Given the description of an element on the screen output the (x, y) to click on. 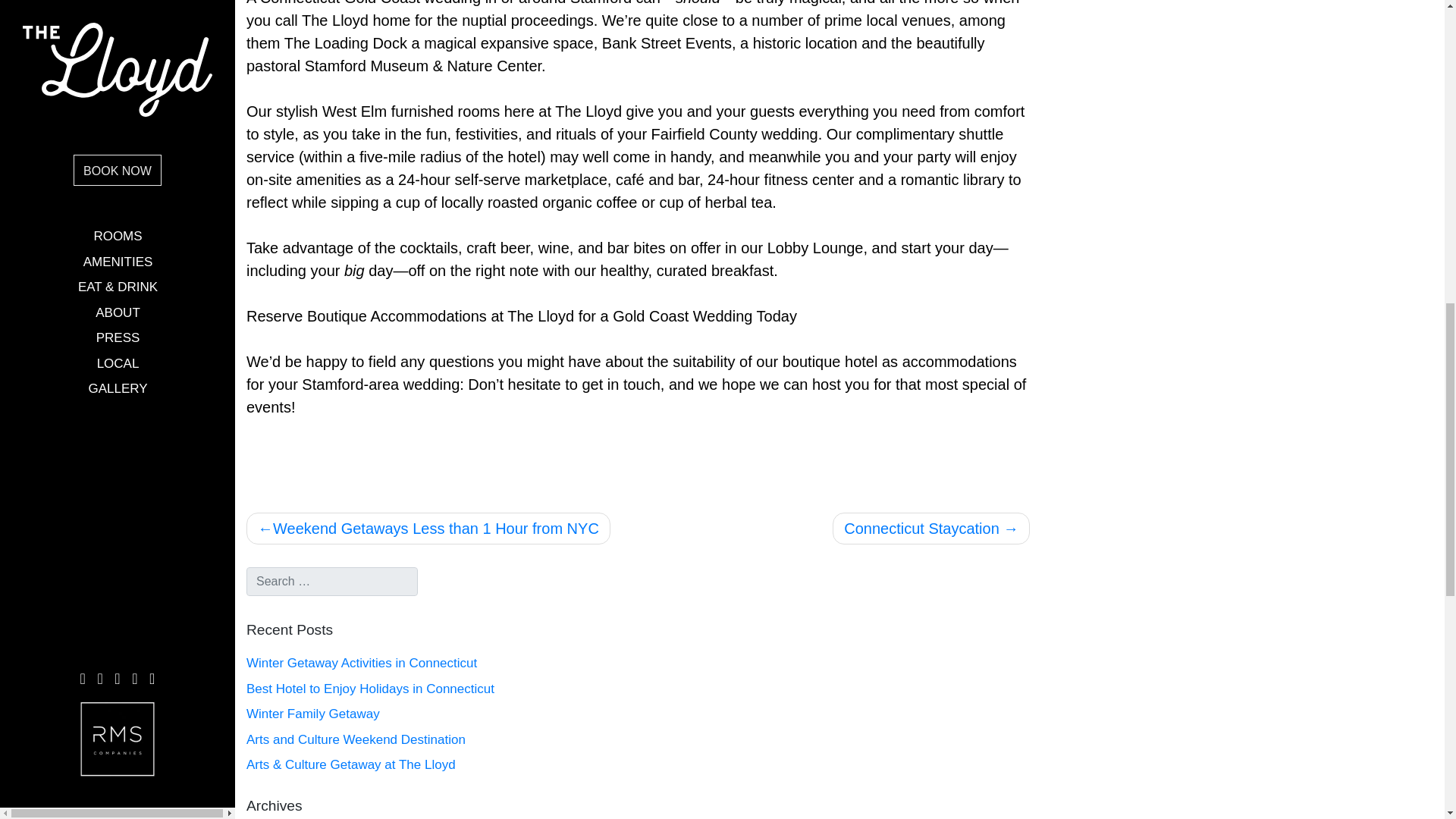
Connecticut Staycation (930, 528)
Search for: (331, 581)
Arts and Culture Weekend Destination (436, 739)
Weekend Getaways Less than 1 Hour from NYC (428, 528)
Winter Getaway Activities in Connecticut (436, 663)
Winter Family Getaway (436, 714)
Best Hotel to Enjoy Holidays in Connecticut (436, 688)
